Given the description of an element on the screen output the (x, y) to click on. 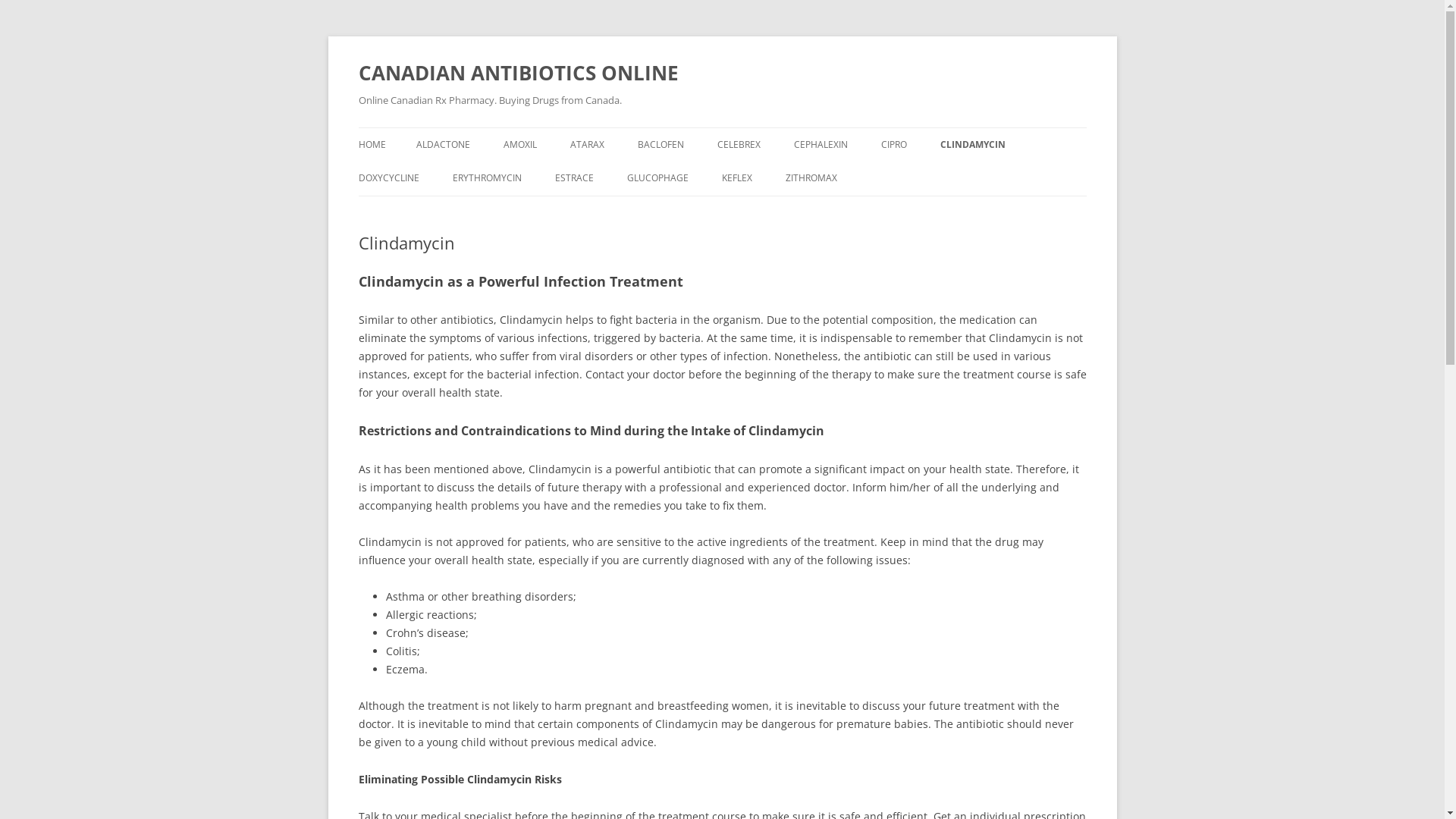
ESTRACE Element type: text (574, 177)
CEPHALEXIN Element type: text (820, 144)
KEFLEX Element type: text (736, 177)
HOME Element type: text (371, 144)
CLINDAMYCIN Element type: text (972, 144)
Skip to content Element type: text (721, 127)
GLUCOPHAGE Element type: text (656, 177)
BACLOFEN Element type: text (660, 144)
ERYTHROMYCIN Element type: text (485, 177)
ALDACTONE Element type: text (442, 144)
ZITHROMAX Element type: text (811, 177)
CIPRO Element type: text (893, 144)
AMOXIL Element type: text (519, 144)
DOXYCYCLINE Element type: text (387, 177)
CANADIAN ANTIBIOTICS ONLINE Element type: text (517, 72)
CELEBREX Element type: text (738, 144)
ATARAX Element type: text (587, 144)
